Given the description of an element on the screen output the (x, y) to click on. 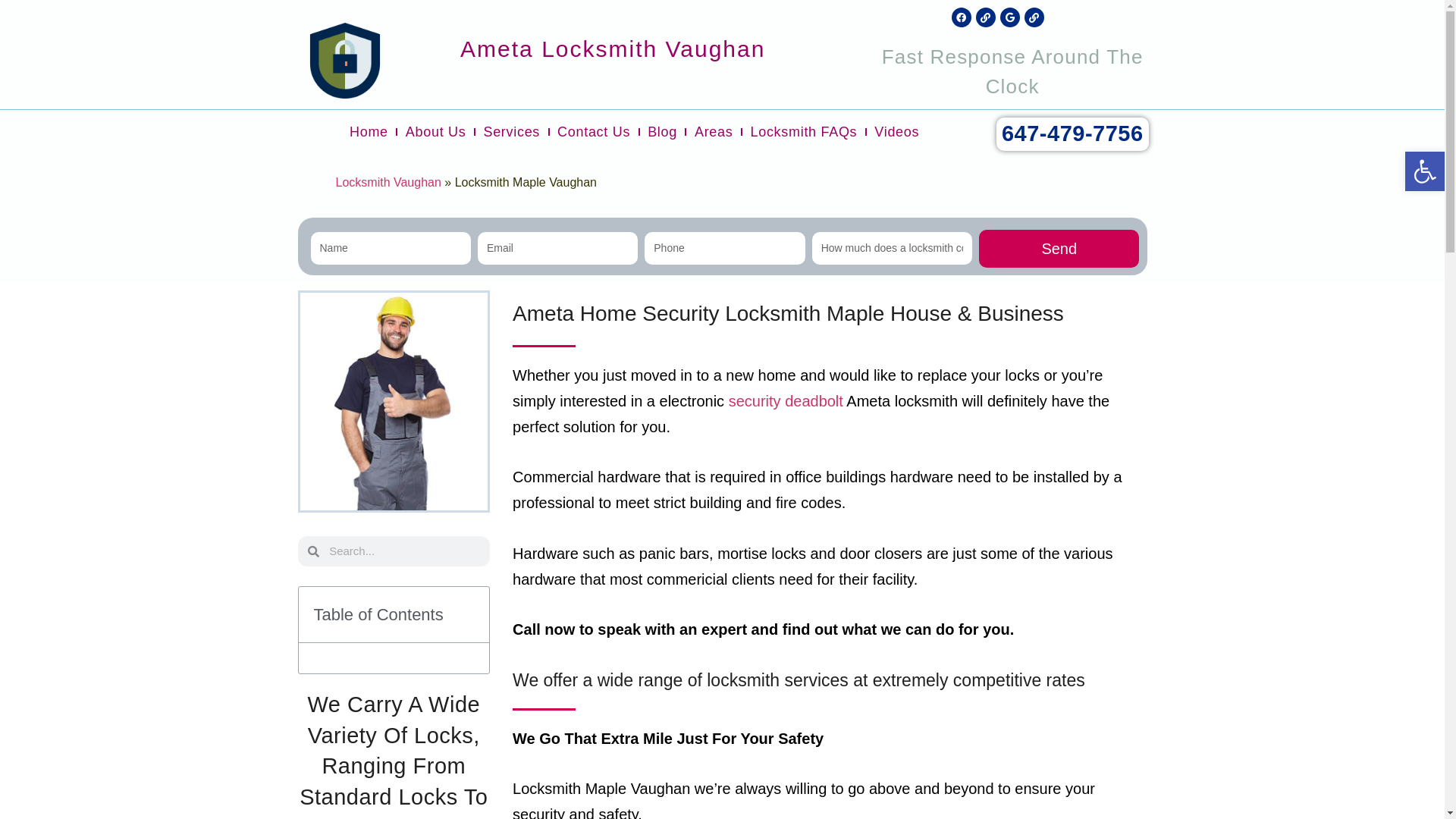
Send Element type: text (1059, 248)
Contact Us Element type: text (593, 131)
Locksmith Maple Vaughan 1 Element type: hover (393, 401)
Areas Element type: text (713, 131)
About Us Element type: text (435, 131)
security deadbolt Element type: text (785, 400)
Locksmith FAQs Element type: text (802, 131)
Locksmith Vaughan Element type: text (387, 181)
Home Element type: text (368, 131)
Open toolbar
Accessibility Tools Element type: text (1424, 171)
Blog Element type: text (662, 131)
647-479-7756 Element type: text (1072, 133)
Videos Element type: text (896, 131)
Services Element type: text (511, 131)
